Given the description of an element on the screen output the (x, y) to click on. 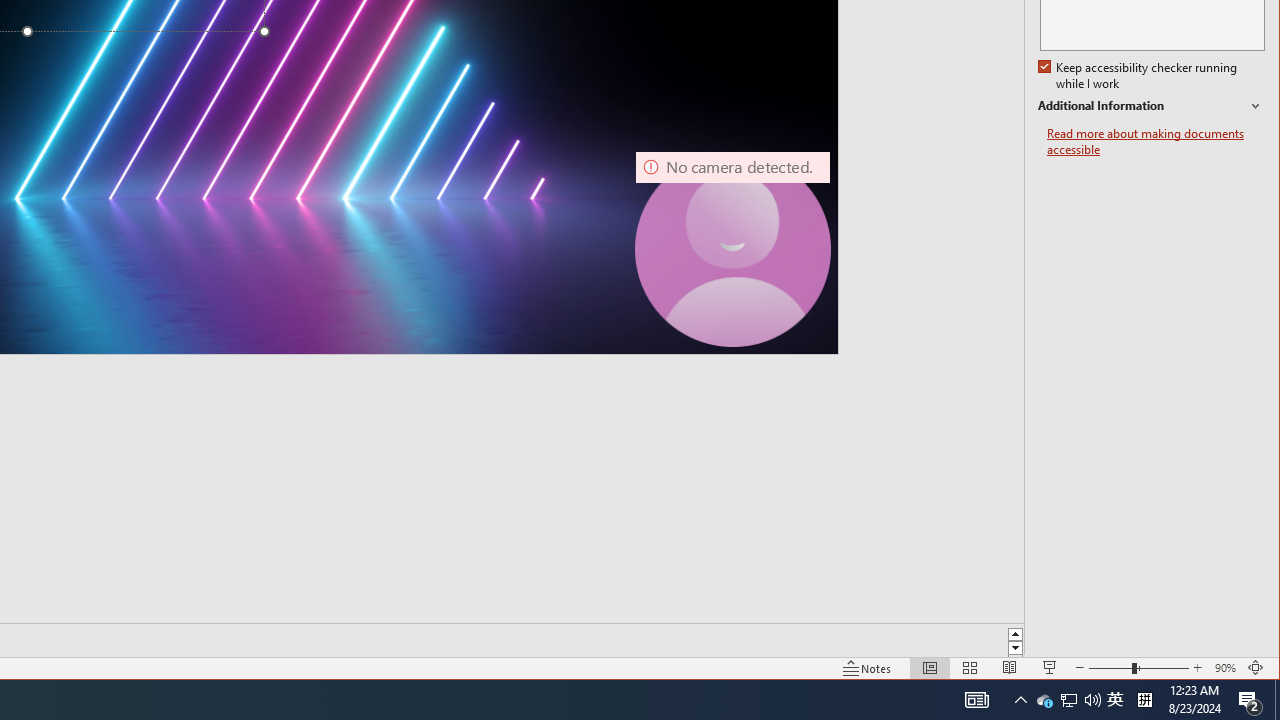
Camera 7, No camera detected. (732, 249)
